Given the description of an element on the screen output the (x, y) to click on. 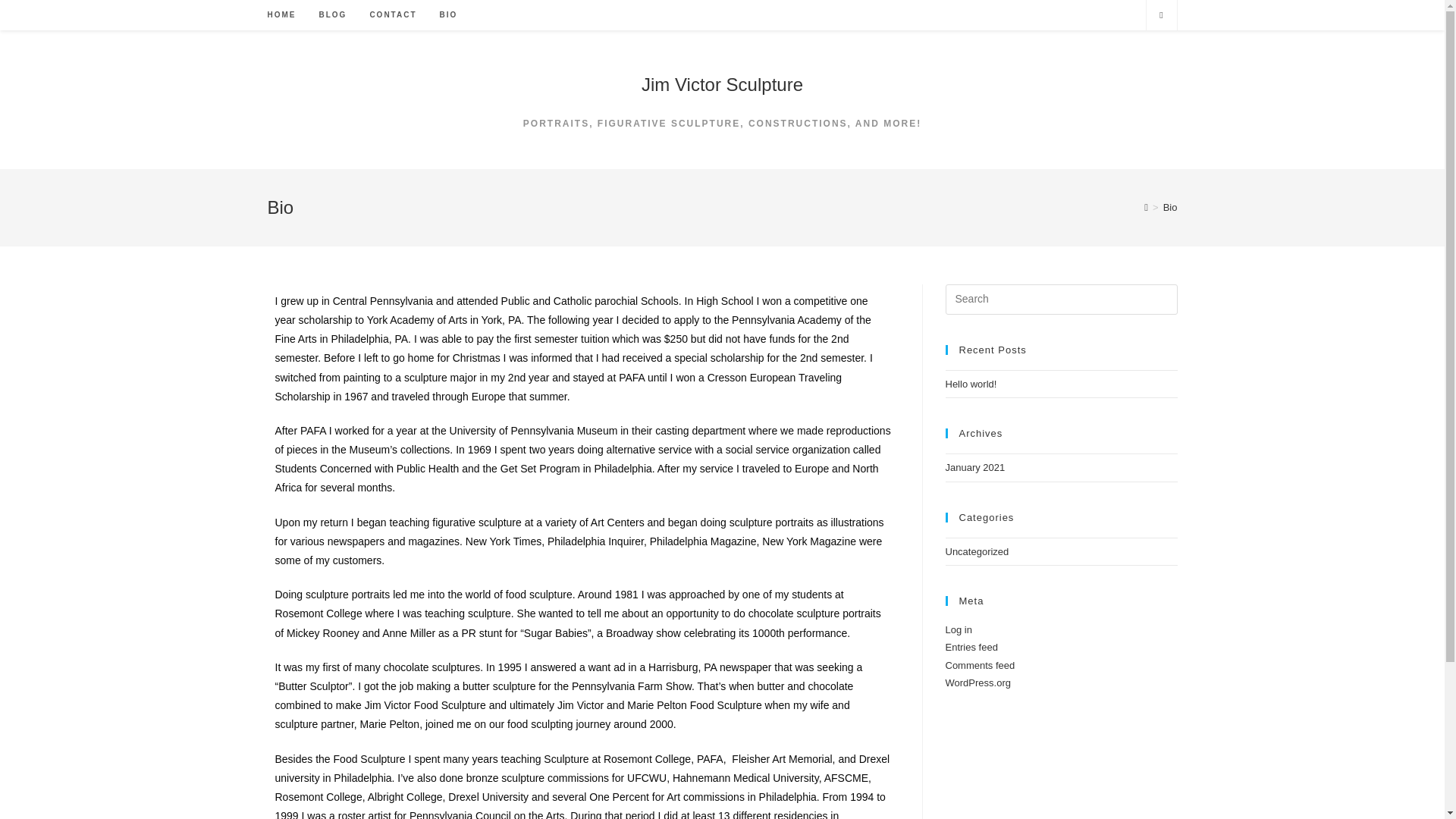
Log in (957, 629)
BIO (448, 15)
CONTACT (393, 15)
BLOG (332, 15)
Hello world! (969, 383)
Entries feed (970, 646)
Uncategorized (976, 551)
January 2021 (974, 467)
Bio (1170, 206)
Comments feed (979, 665)
HOME (281, 15)
WordPress.org (977, 682)
Jim Victor Sculpture (722, 84)
